Given the description of an element on the screen output the (x, y) to click on. 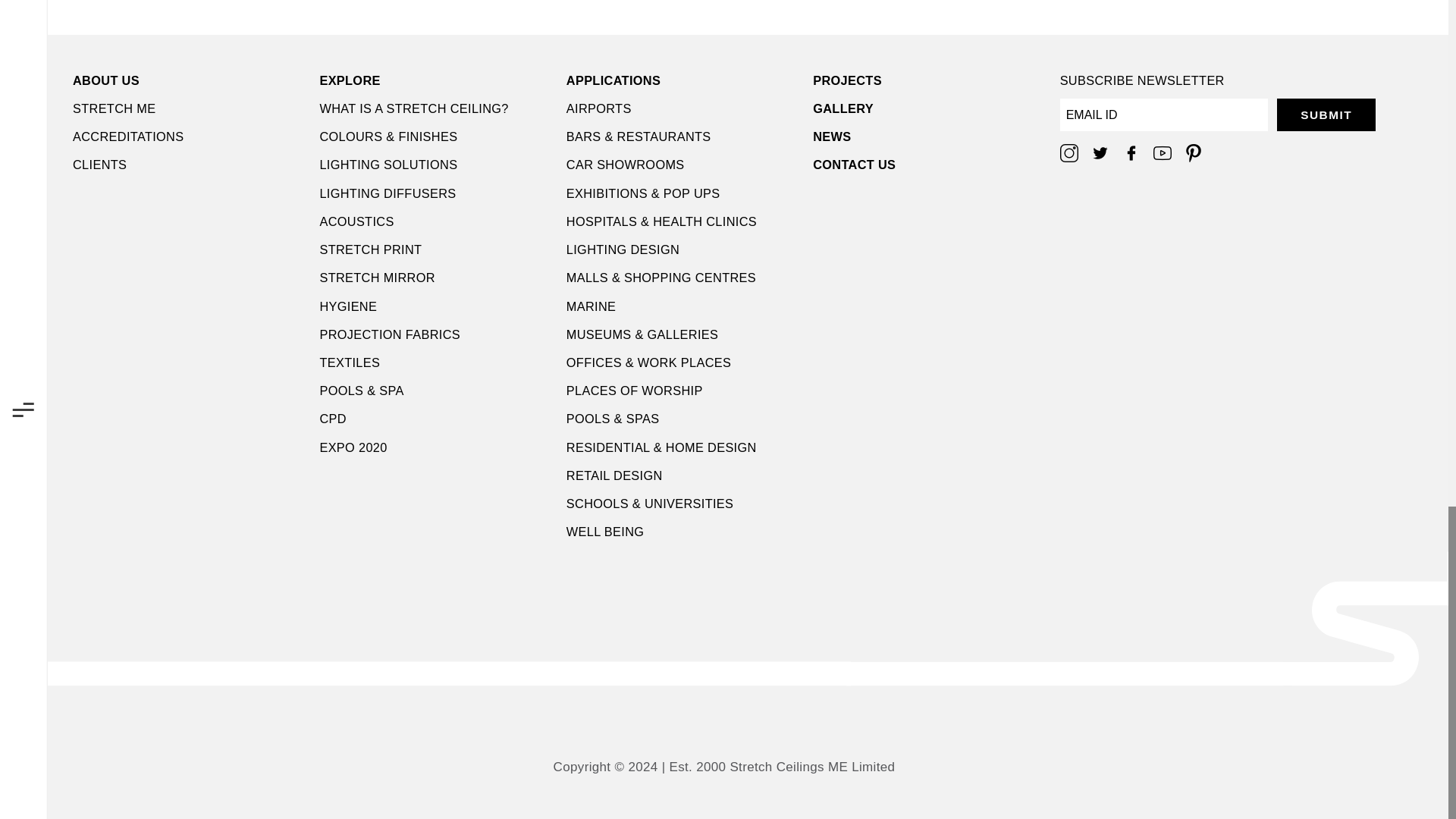
CONTACT US (929, 164)
CPD (435, 418)
Lighting Solutions (435, 164)
Accreditations (188, 136)
Explore (435, 80)
Acoustics (435, 221)
What is a Stretch Ceiling? (435, 108)
Textiles (435, 361)
About Us (188, 80)
Lighting Diffusers (435, 193)
